Given the description of an element on the screen output the (x, y) to click on. 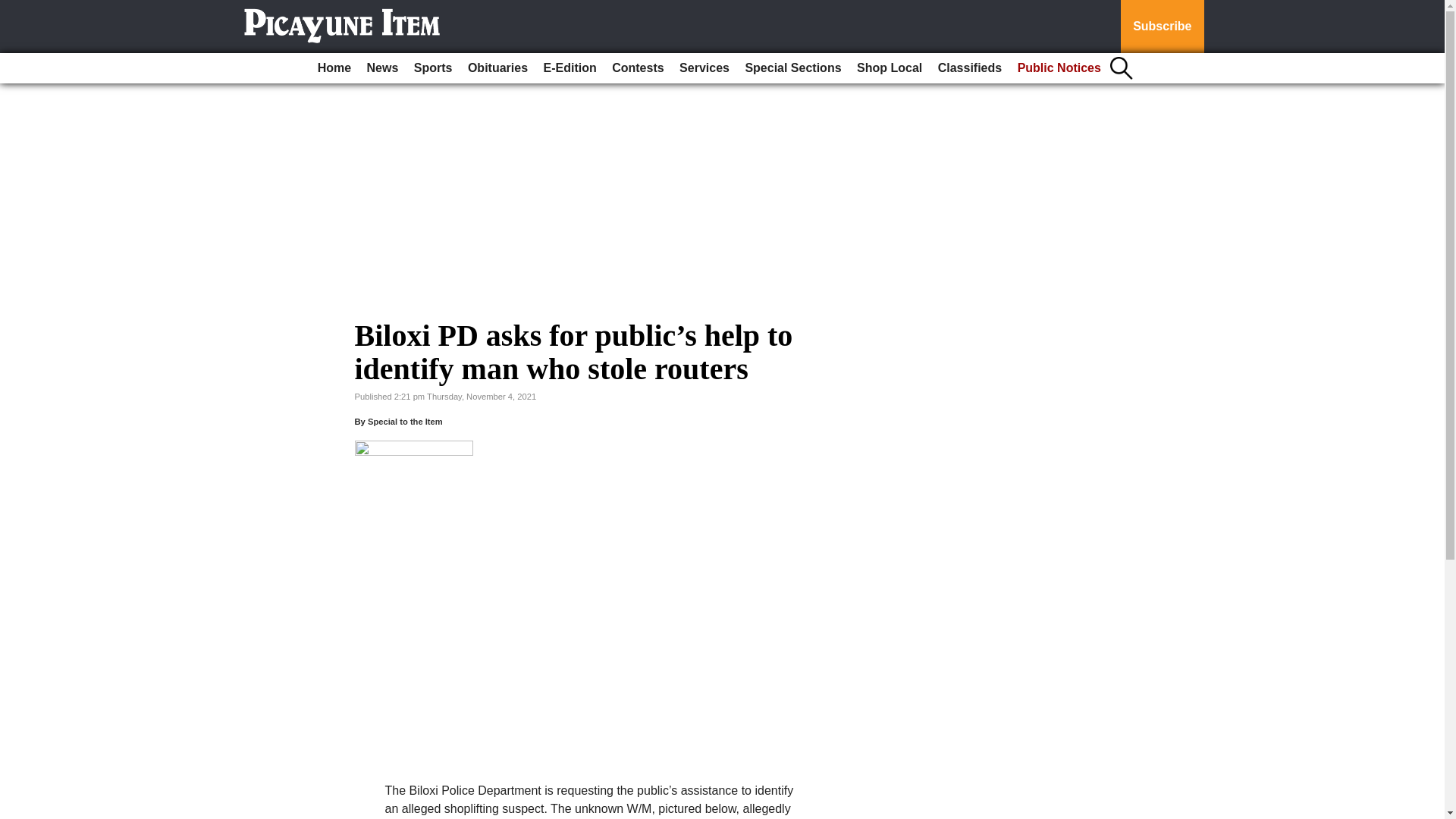
Shop Local (889, 68)
Obituaries (497, 68)
E-Edition (569, 68)
Public Notices (1058, 68)
Contests (637, 68)
News (382, 68)
Go (13, 9)
Special to the Item (405, 420)
Special Sections (792, 68)
Classifieds (969, 68)
Services (703, 68)
Home (333, 68)
Subscribe (1162, 26)
Sports (432, 68)
